Given the description of an element on the screen output the (x, y) to click on. 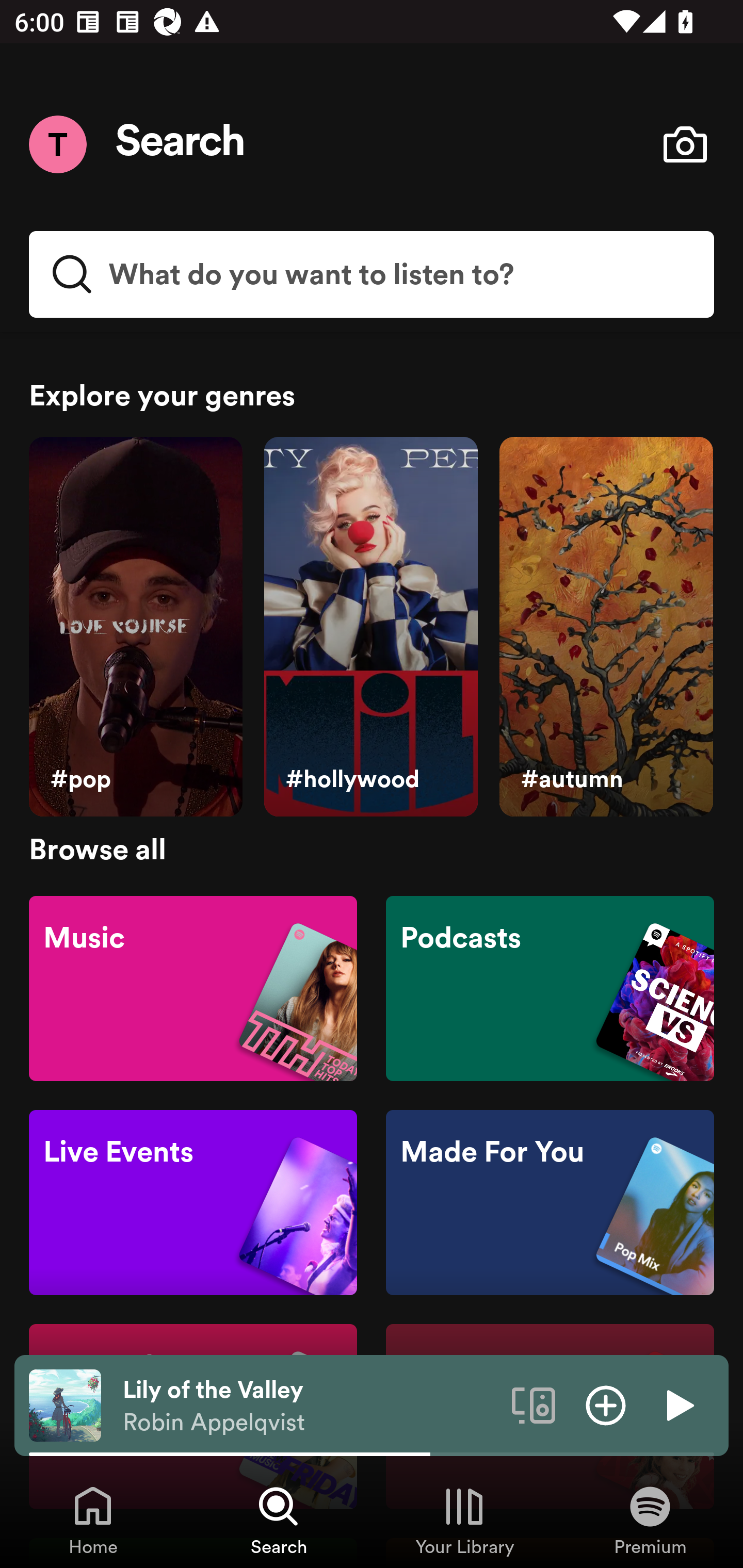
Menu (57, 144)
Open camera (685, 145)
Search (180, 144)
#pop (135, 626)
#hollywood (370, 626)
#autumn (606, 626)
Music (192, 987)
Podcasts (549, 987)
Live Events (192, 1202)
Made For You (549, 1202)
Lily of the Valley Robin Appelqvist (309, 1405)
The cover art of the currently playing track (64, 1404)
Connect to a device. Opens the devices menu (533, 1404)
Add item (605, 1404)
Play (677, 1404)
Home, Tab 1 of 4 Home Home (92, 1519)
Search, Tab 2 of 4 Search Search (278, 1519)
Your Library, Tab 3 of 4 Your Library Your Library (464, 1519)
Premium, Tab 4 of 4 Premium Premium (650, 1519)
